Given the description of an element on the screen output the (x, y) to click on. 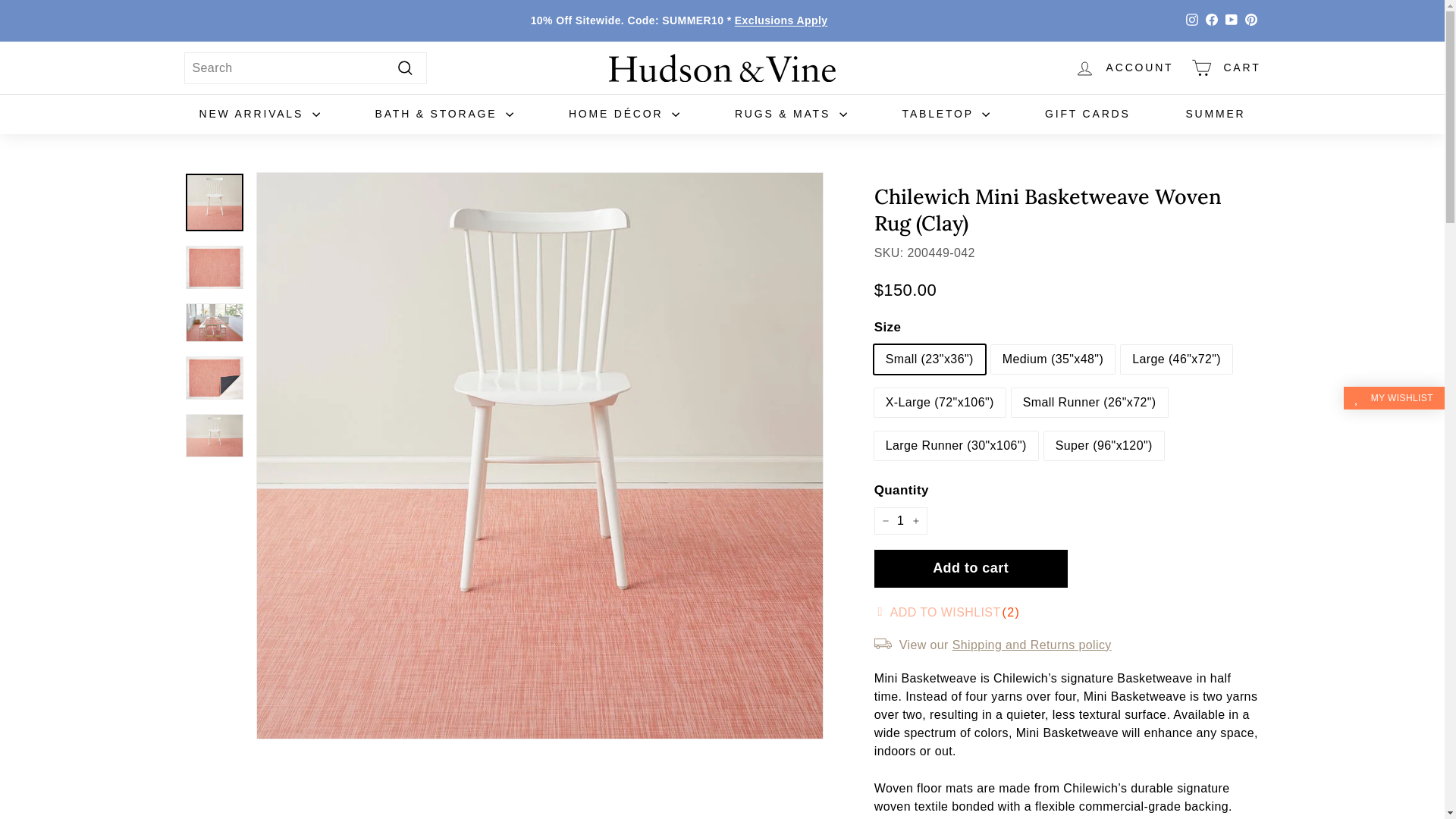
CART (1225, 67)
Promotion Exclusions (781, 20)
ACCOUNT (1123, 67)
Exclusions Apply (781, 20)
1 (901, 520)
instagram (1192, 19)
